Given the description of an element on the screen output the (x, y) to click on. 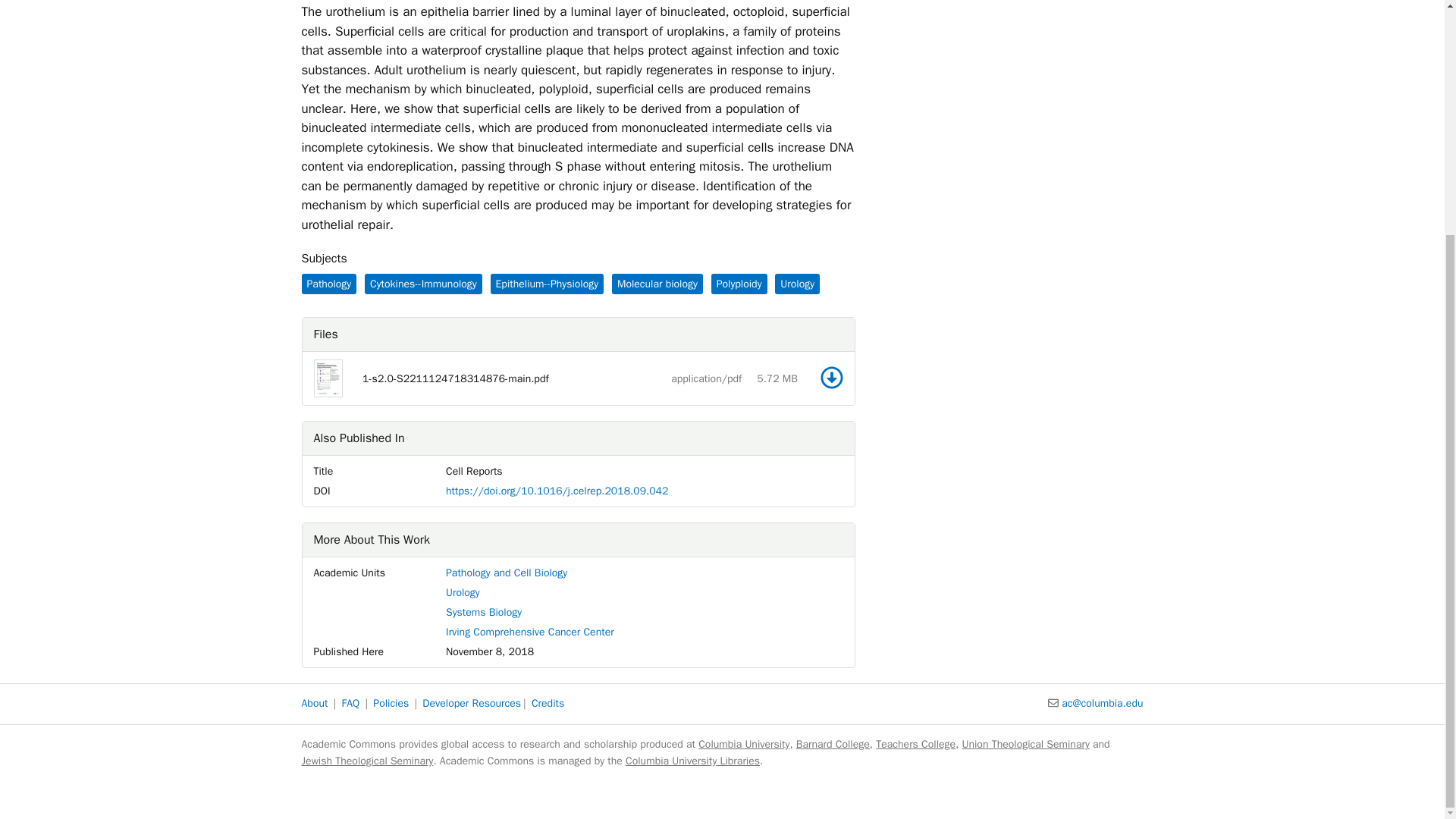
Pathology (328, 283)
Systems Biology (483, 612)
Download file (832, 377)
Irving Comprehensive Cancer Center (529, 631)
Mendelsohn, Cathy Lee (559, 2)
Epithelium--Physiology (546, 283)
Urology (462, 592)
Pathology and Cell Biology (506, 572)
Urology (796, 283)
Mysorekar, Indira U. (437, 2)
Polyploidy (739, 283)
Canman, Julie (338, 2)
Molecular biology (657, 283)
Cytokines--Immunology (423, 283)
Download file (832, 377)
